Given the description of an element on the screen output the (x, y) to click on. 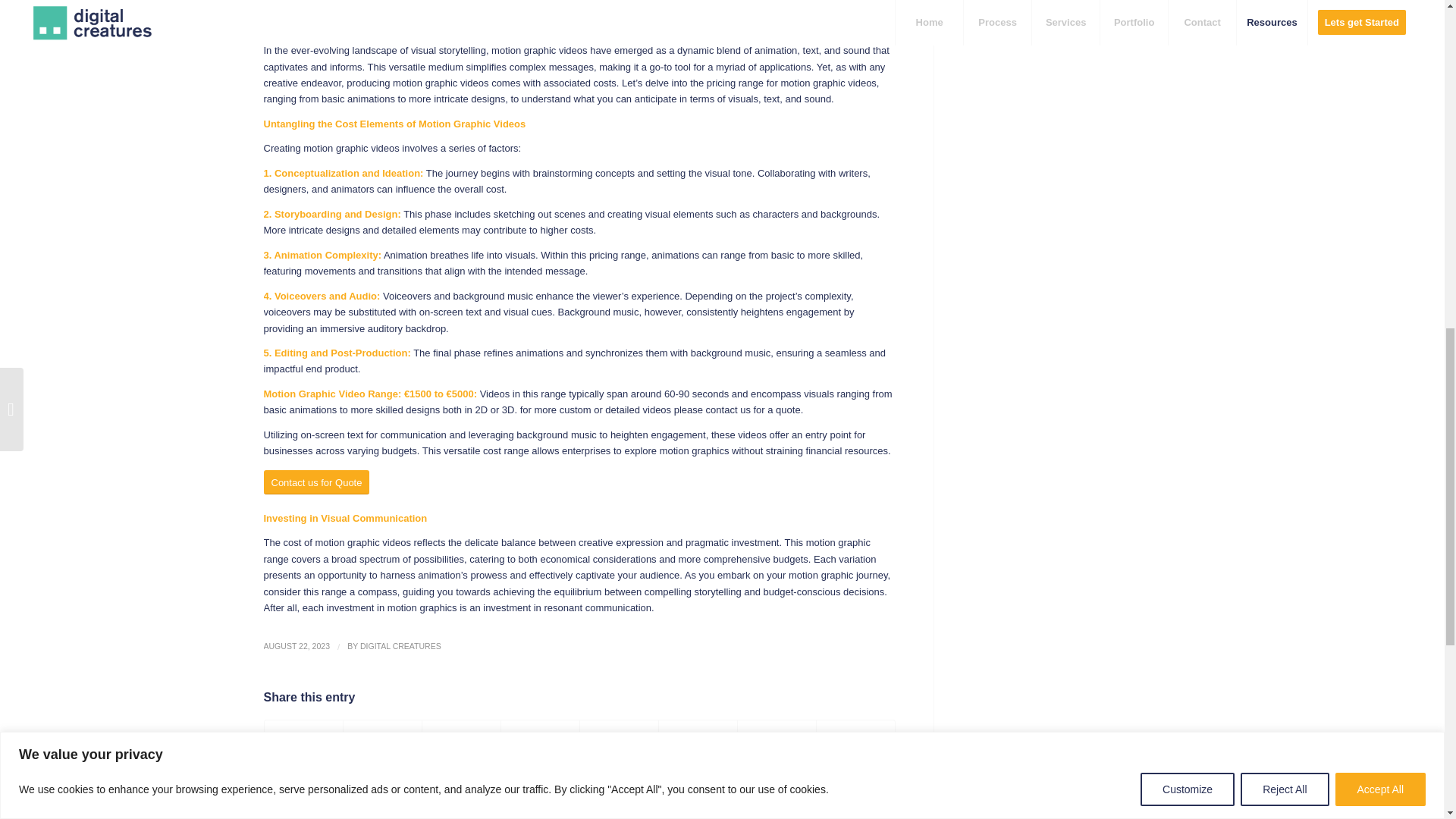
Posts by Digital Creatures (400, 645)
DIGITAL CREATURES (400, 645)
Contact us for Quote (316, 482)
